Given the description of an element on the screen output the (x, y) to click on. 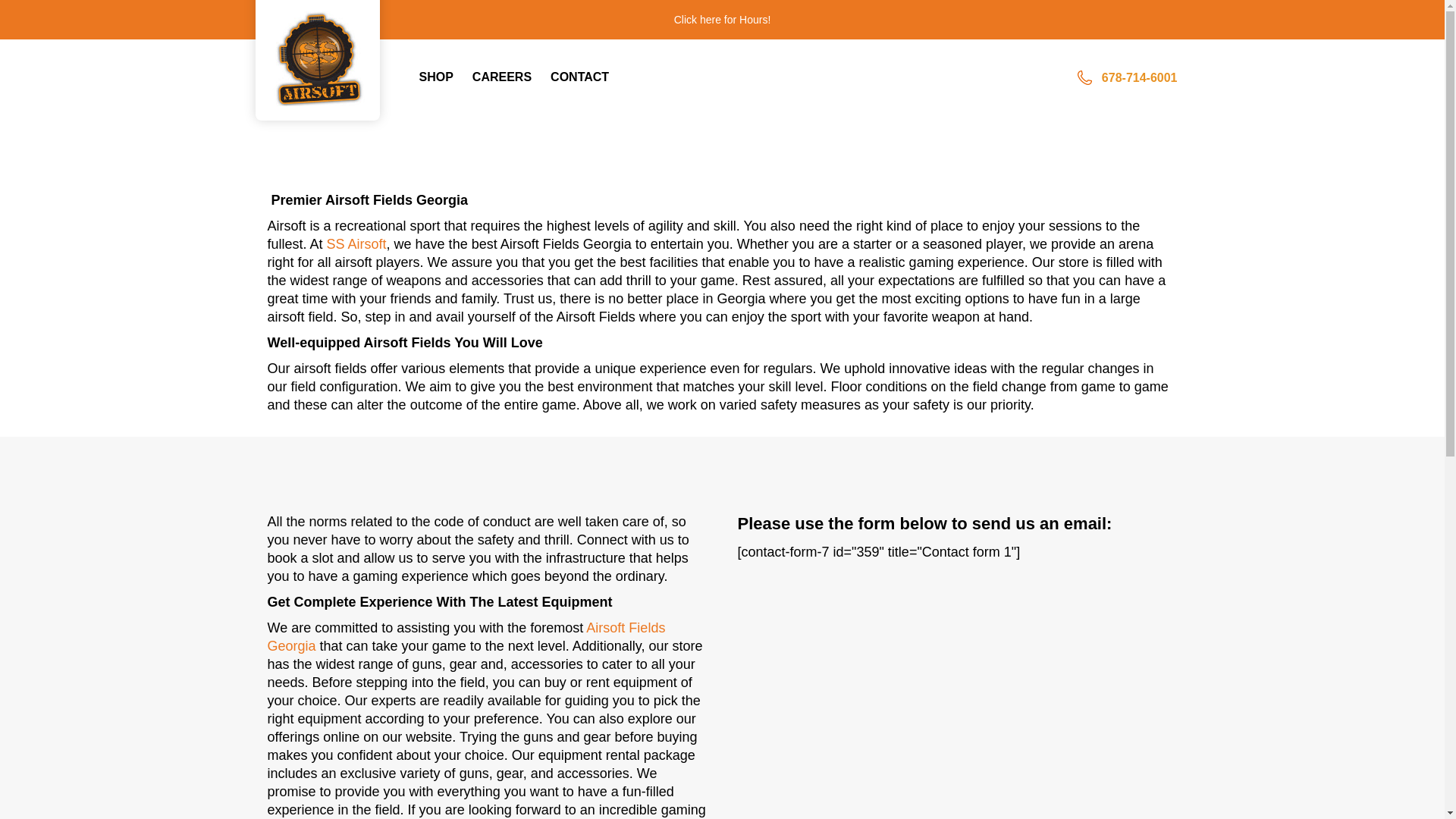
678-714-6001 (1139, 77)
SS Airsoft (356, 243)
CAREERS (510, 77)
Airsoft Fields Georgia (465, 636)
Click here for Hours! (722, 19)
SHOP (445, 77)
CONTACT (588, 77)
